Given the description of an element on the screen output the (x, y) to click on. 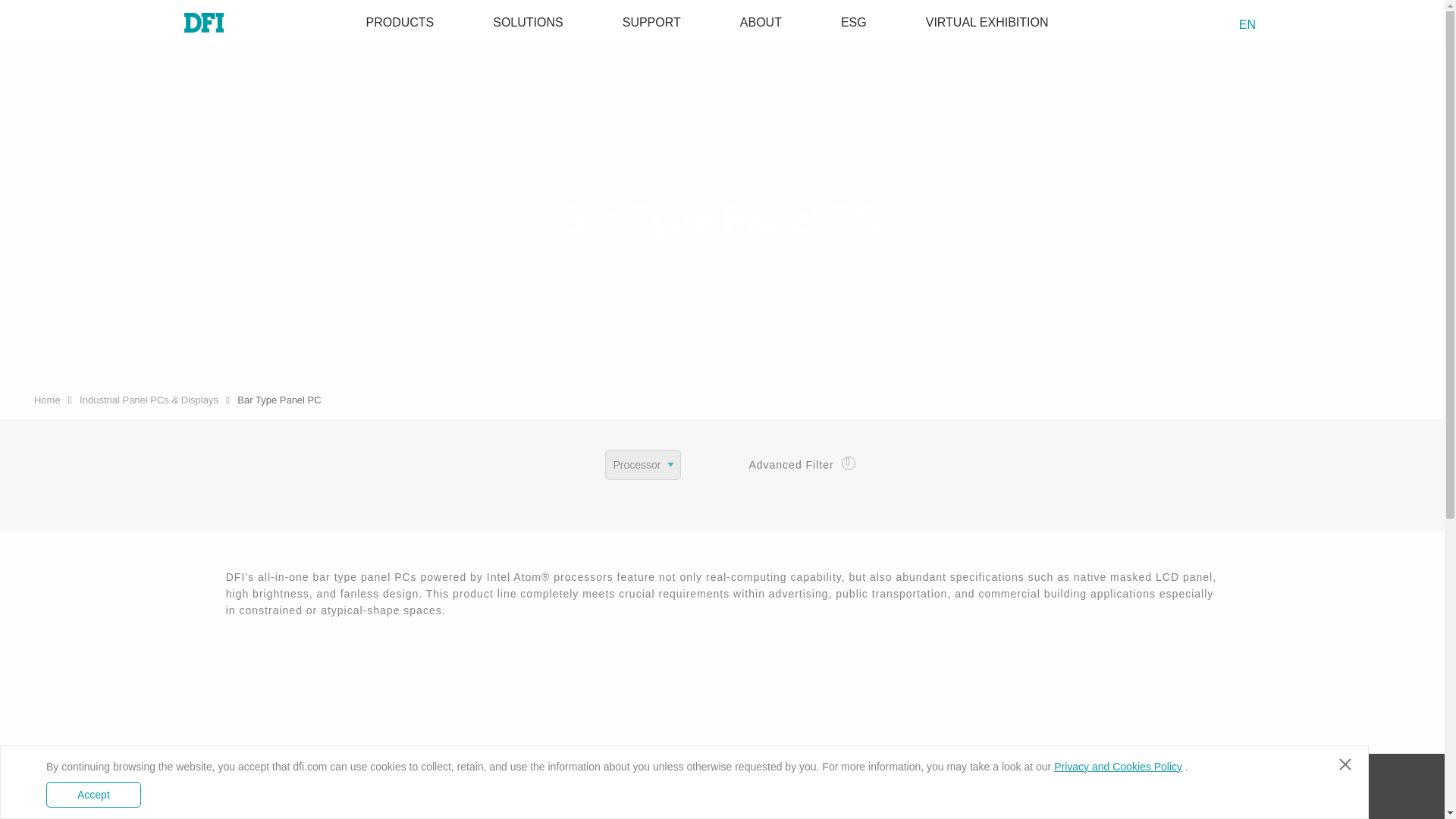
South (853, 22)
South (987, 22)
South (1280, 23)
South (1225, 23)
South (46, 6)
South (1200, 23)
DFI (192, 22)
EN (1253, 24)
